Given the description of an element on the screen output the (x, y) to click on. 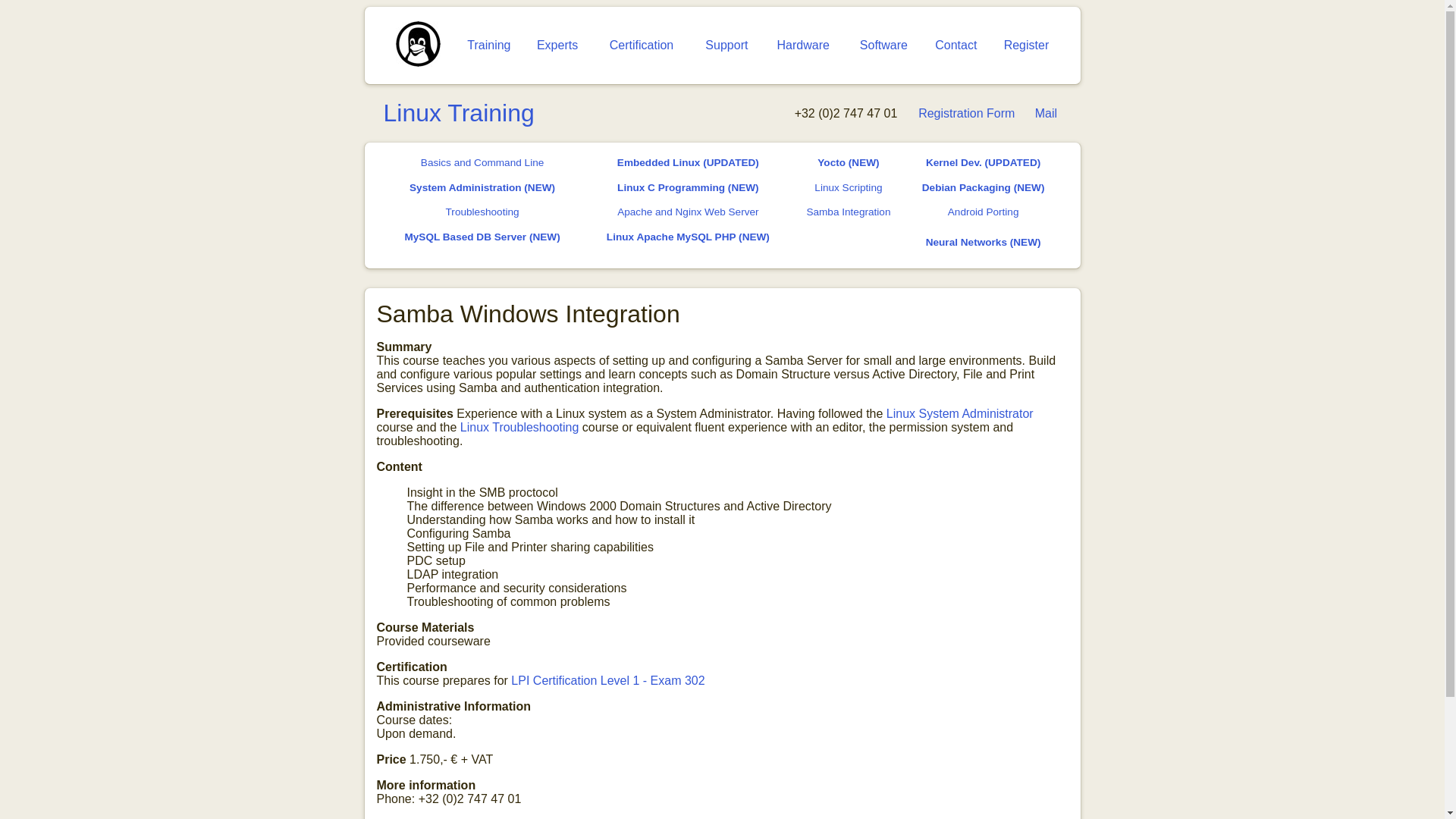
Support (726, 44)
Linux Training (459, 112)
Samba Integration (847, 211)
Contact (955, 44)
Hardware (802, 44)
Android Porting (983, 211)
Linux Scripting (847, 187)
LPI Certification Level 1 - Exam 302 (607, 680)
Register (1026, 44)
Basics and Command Line (481, 162)
Apache and Nginx Web Server (687, 211)
Training (489, 44)
Certification (641, 44)
Troubleshooting (482, 211)
